Given the description of an element on the screen output the (x, y) to click on. 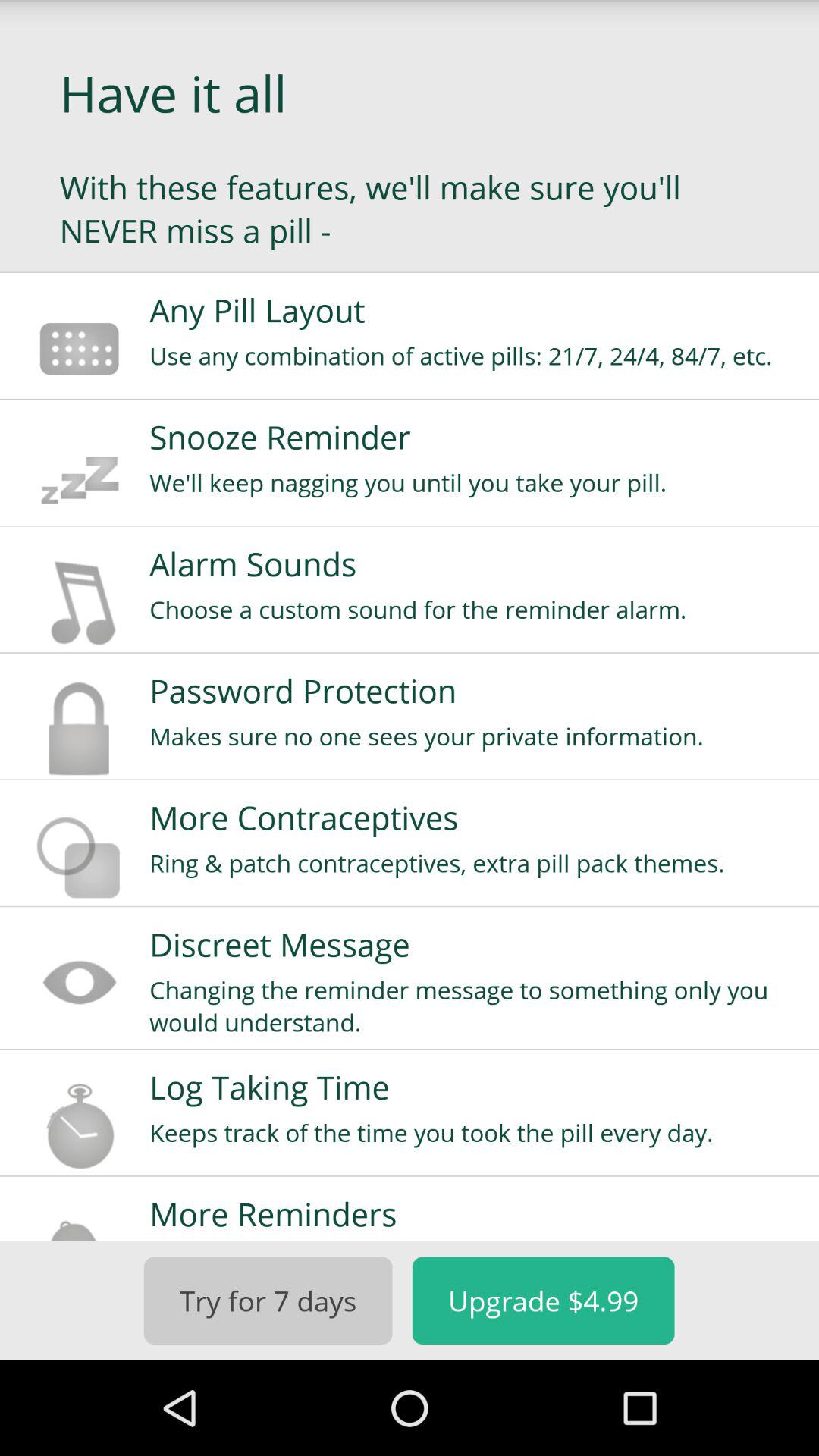
click the app above the use any combination icon (474, 309)
